Given the description of an element on the screen output the (x, y) to click on. 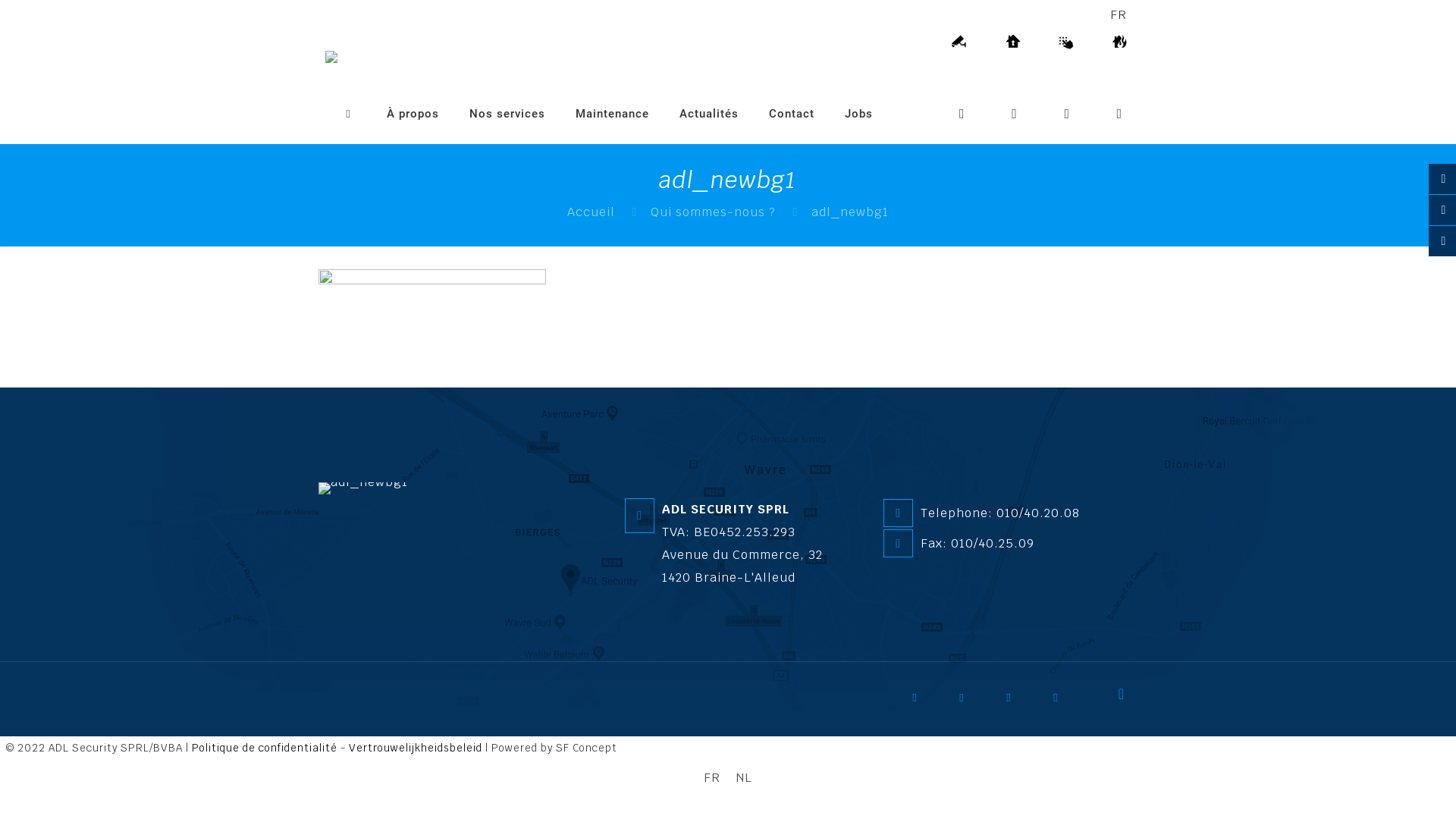
| Element type: text (3, 747)
Instagram Element type: hover (1066, 702)
Nos services Element type: text (507, 113)
Facebook Element type: hover (924, 702)
Contact Element type: text (791, 113)
Maintenance Element type: text (612, 113)
Accueil Element type: text (591, 211)
adl_newbg1 Element type: hover (362, 488)
LinkedIn Element type: hover (1019, 702)
Qui sommes-nous ? Element type: text (712, 211)
FR Element type: text (712, 777)
Twitter Element type: hover (971, 702)
NL Element type: text (743, 777)
Jobs Element type: text (858, 113)
FR Element type: text (1118, 14)
Vertrouwelijkheidsbeleid Element type: text (415, 747)
